Given the description of an element on the screen output the (x, y) to click on. 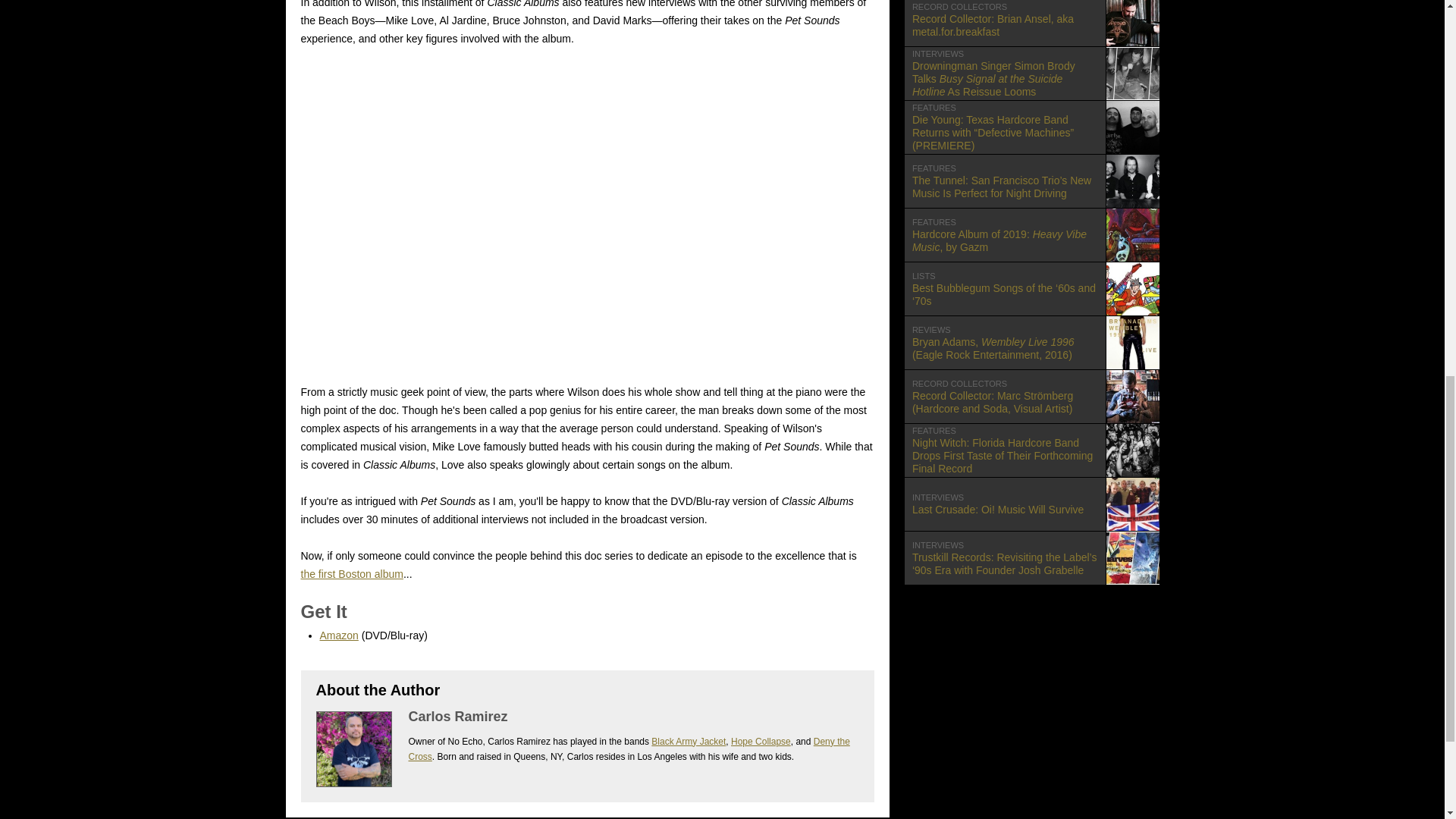
Amazon (1031, 503)
Hope Collapse (339, 635)
Deny the Cross (760, 741)
the first Boston album (627, 749)
Black Army Jacket (1031, 234)
